Given the description of an element on the screen output the (x, y) to click on. 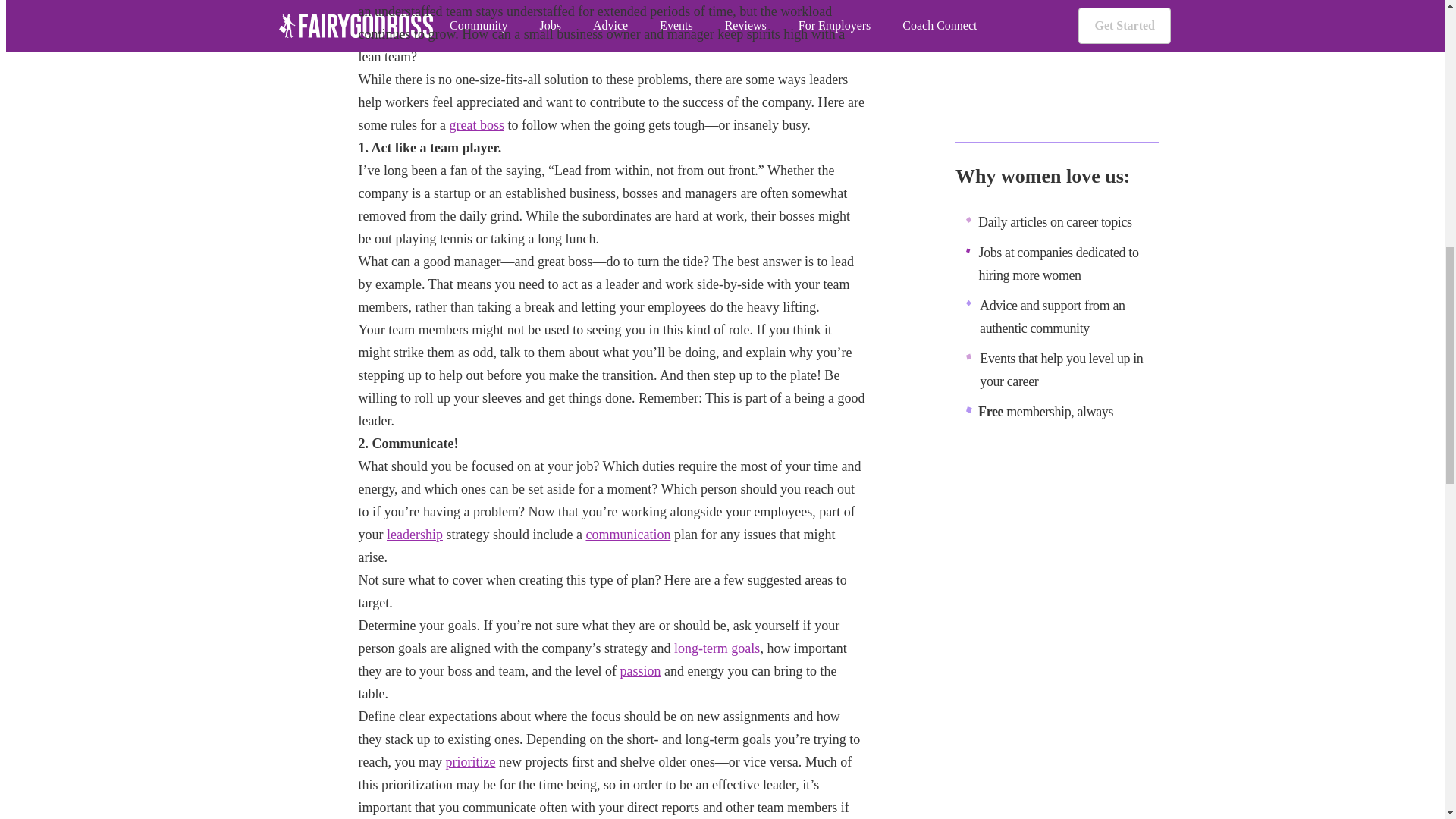
passion (640, 670)
great boss (475, 124)
communication (627, 534)
prioritize (470, 761)
leadership (414, 534)
long-term goals (717, 648)
